Given the description of an element on the screen output the (x, y) to click on. 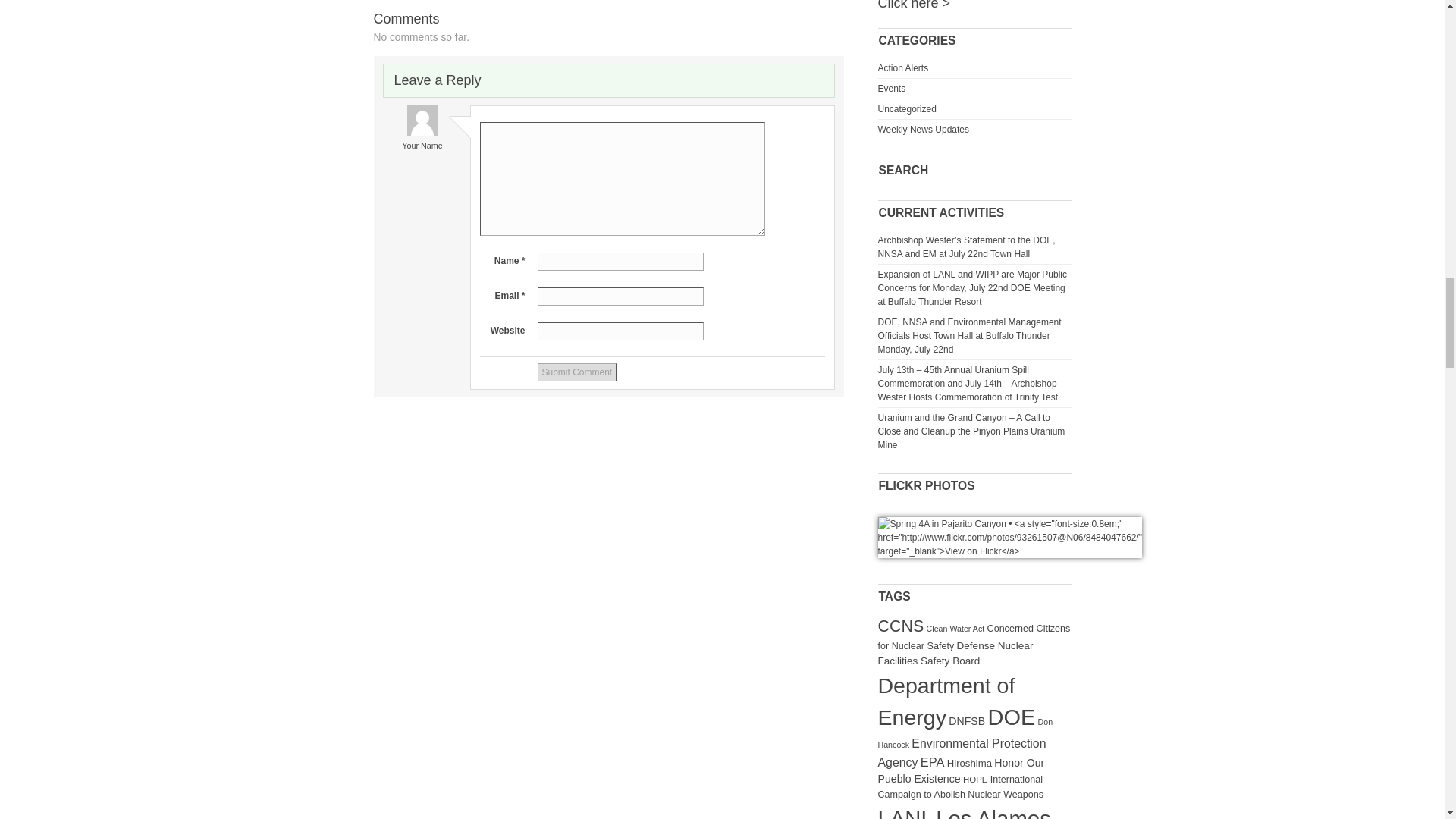
Submit Comment (576, 372)
